Given the description of an element on the screen output the (x, y) to click on. 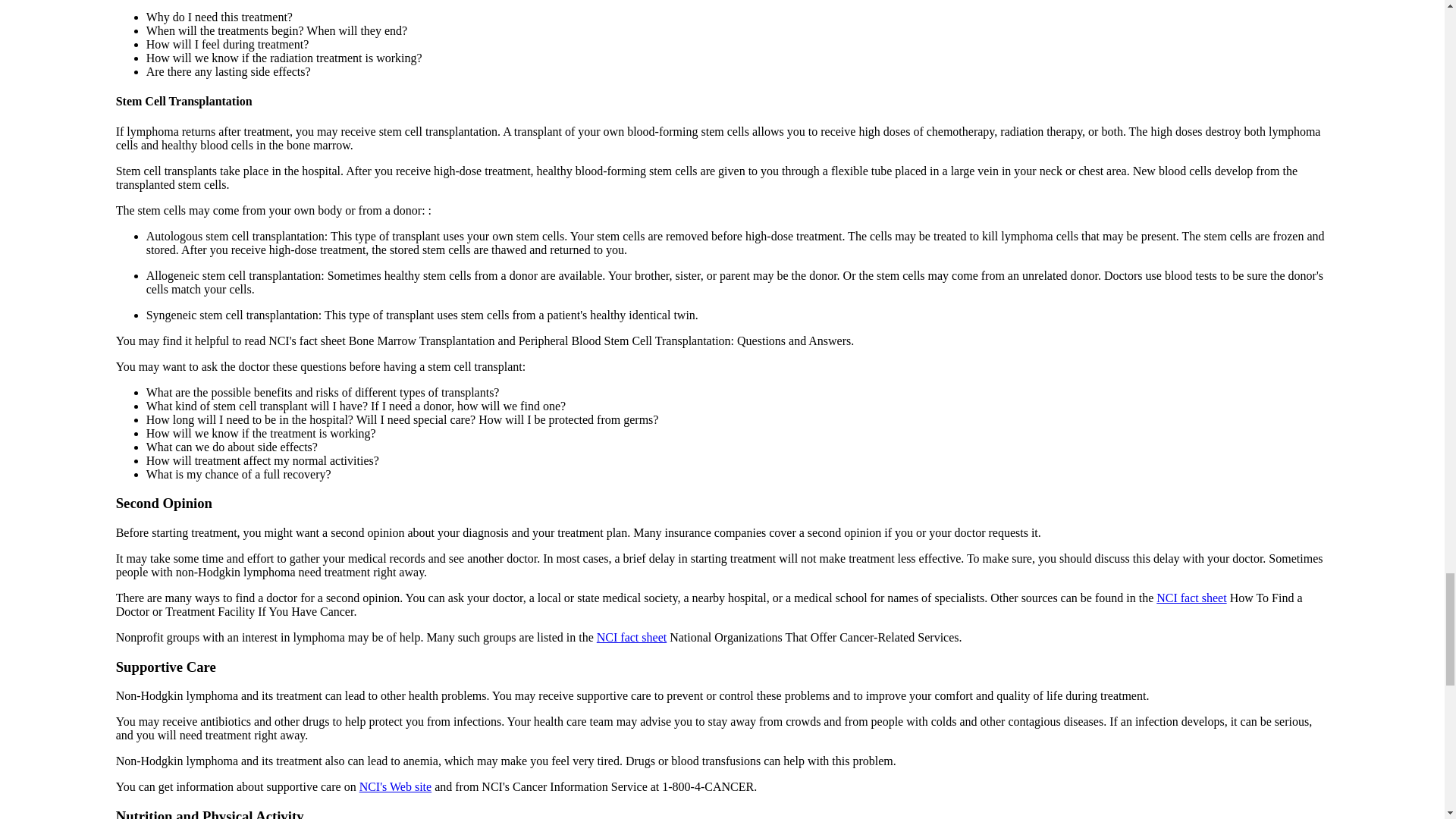
NCI's Web site (395, 786)
NCI fact sheet (631, 636)
NCI fact sheet (1190, 597)
